Given the description of an element on the screen output the (x, y) to click on. 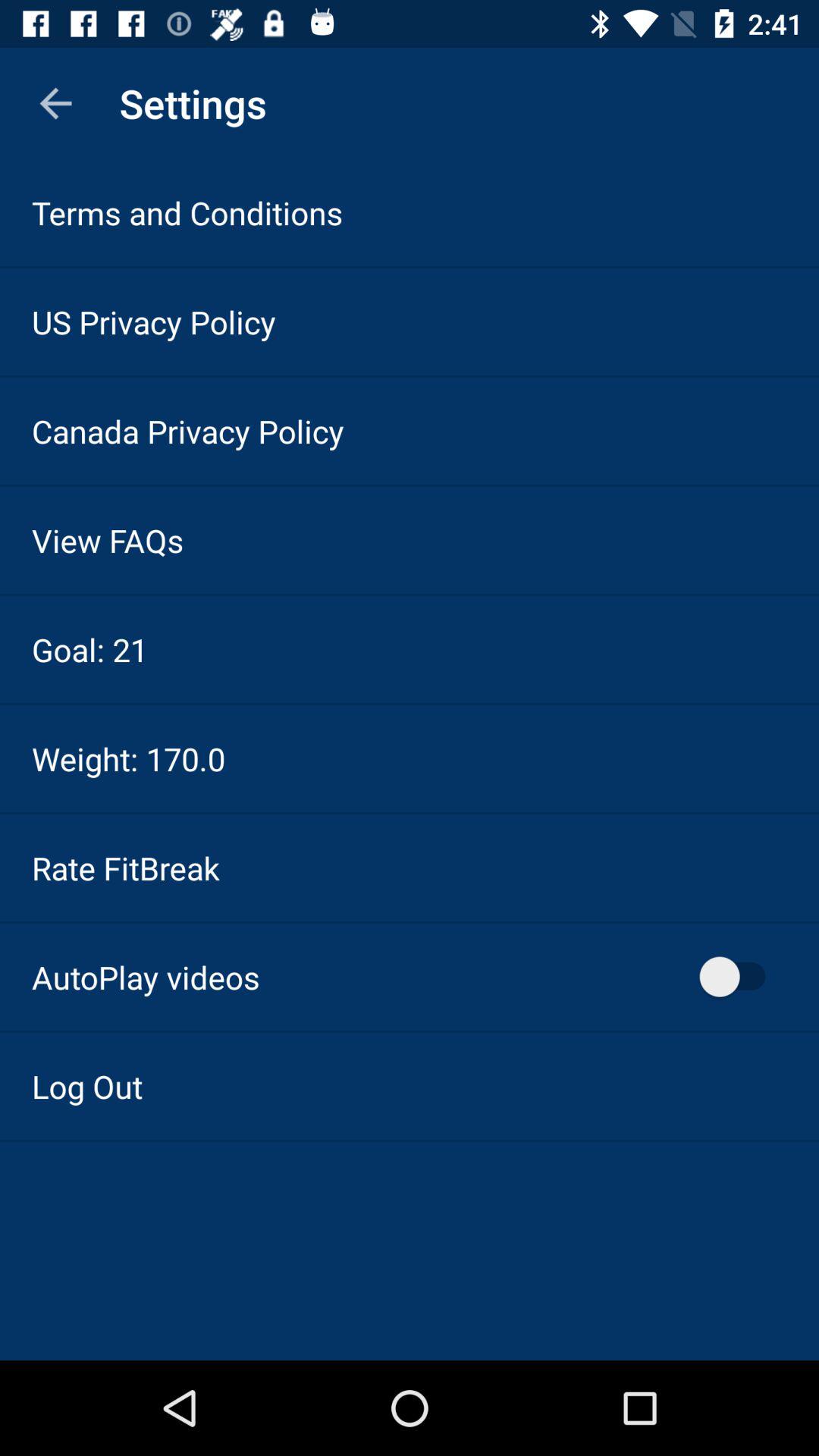
tap the icon below weight: 170.0 icon (125, 867)
